Given the description of an element on the screen output the (x, y) to click on. 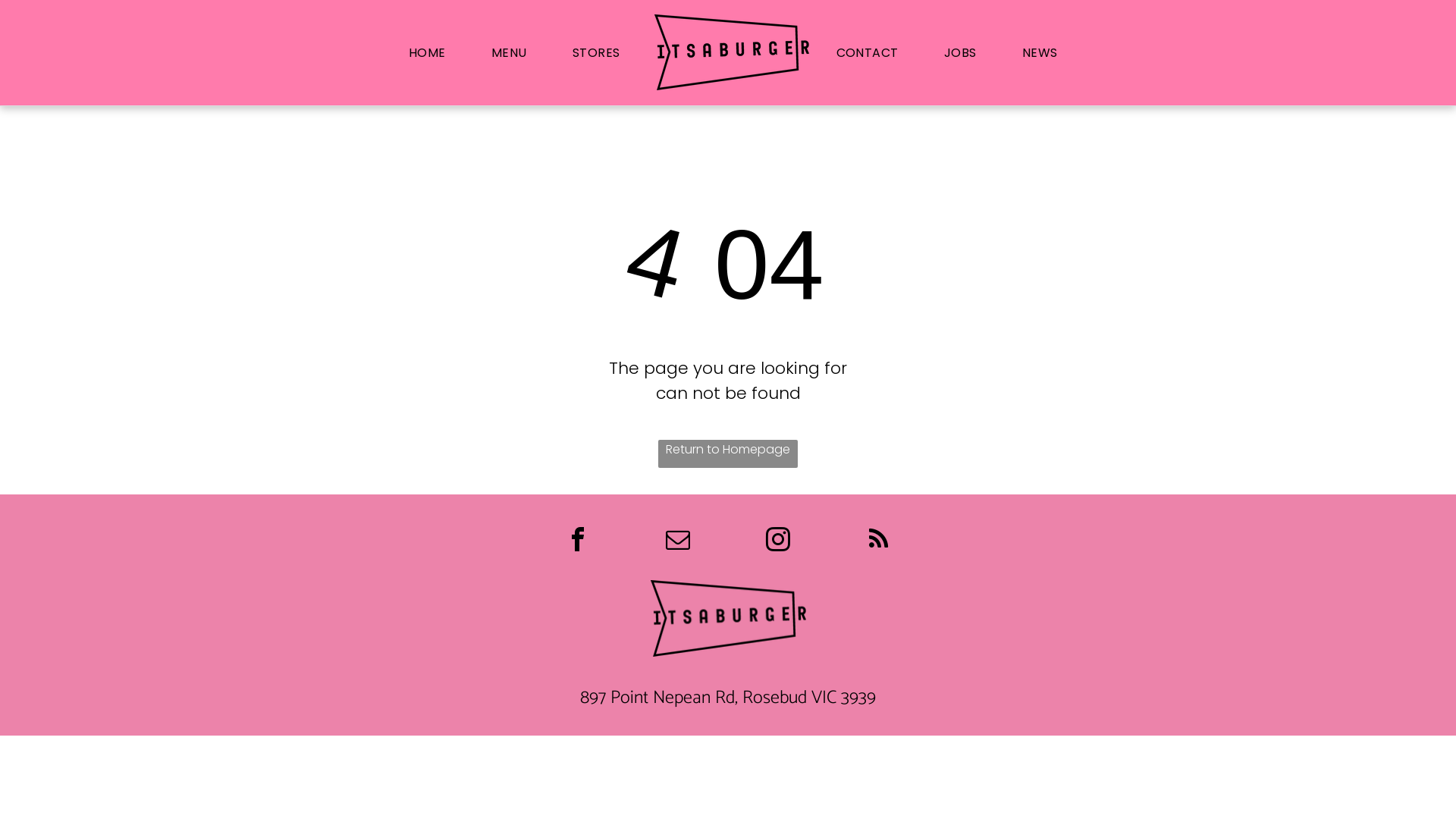
JOBS Element type: text (960, 52)
NEWS Element type: text (1039, 52)
MENU Element type: text (509, 52)
CONTACT Element type: text (867, 52)
HOME Element type: text (426, 52)
STORES Element type: text (596, 52)
Return to Homepage Element type: text (727, 453)
